Given the description of an element on the screen output the (x, y) to click on. 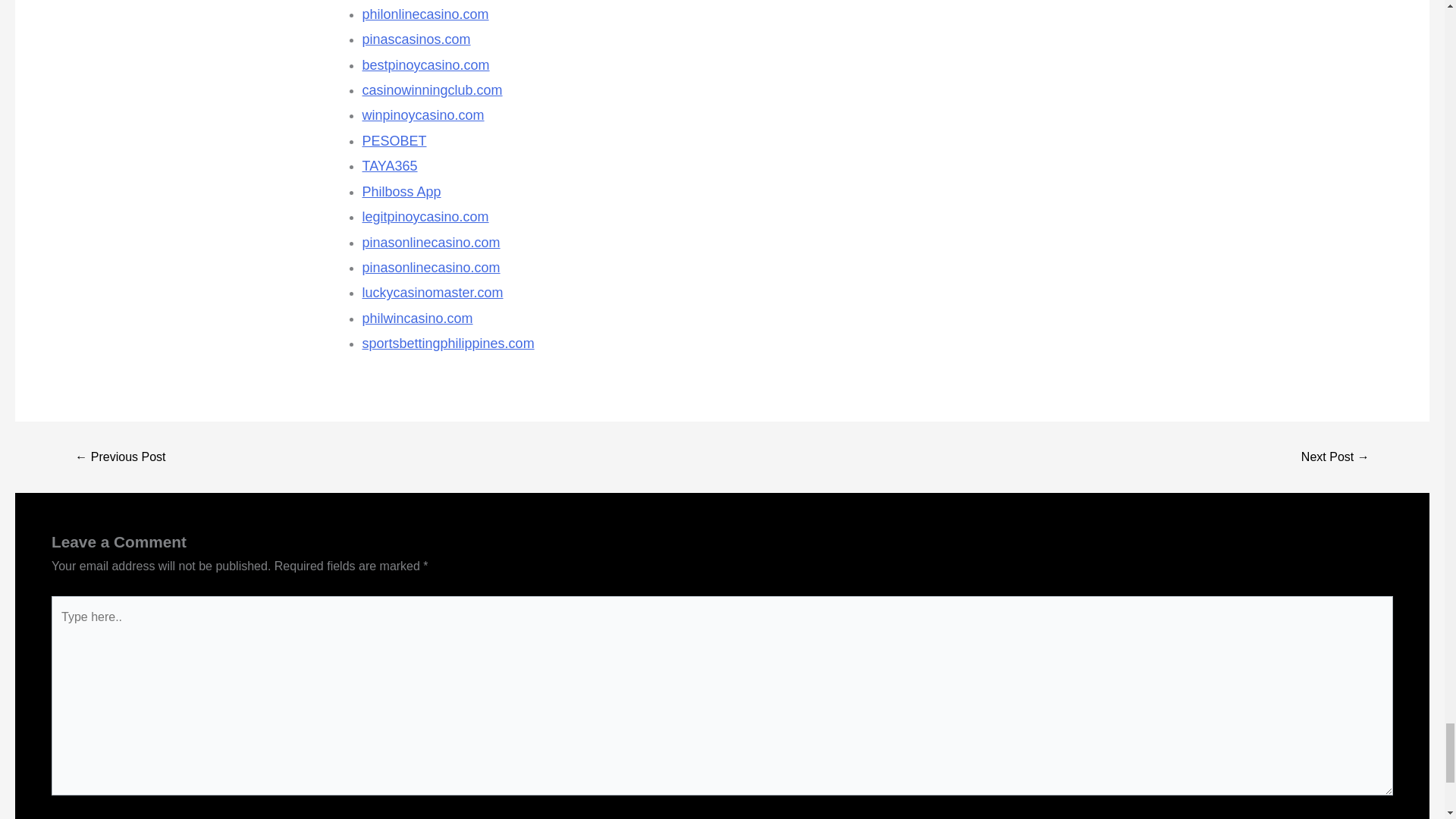
BW777 GAMING (1334, 457)
